Given the description of an element on the screen output the (x, y) to click on. 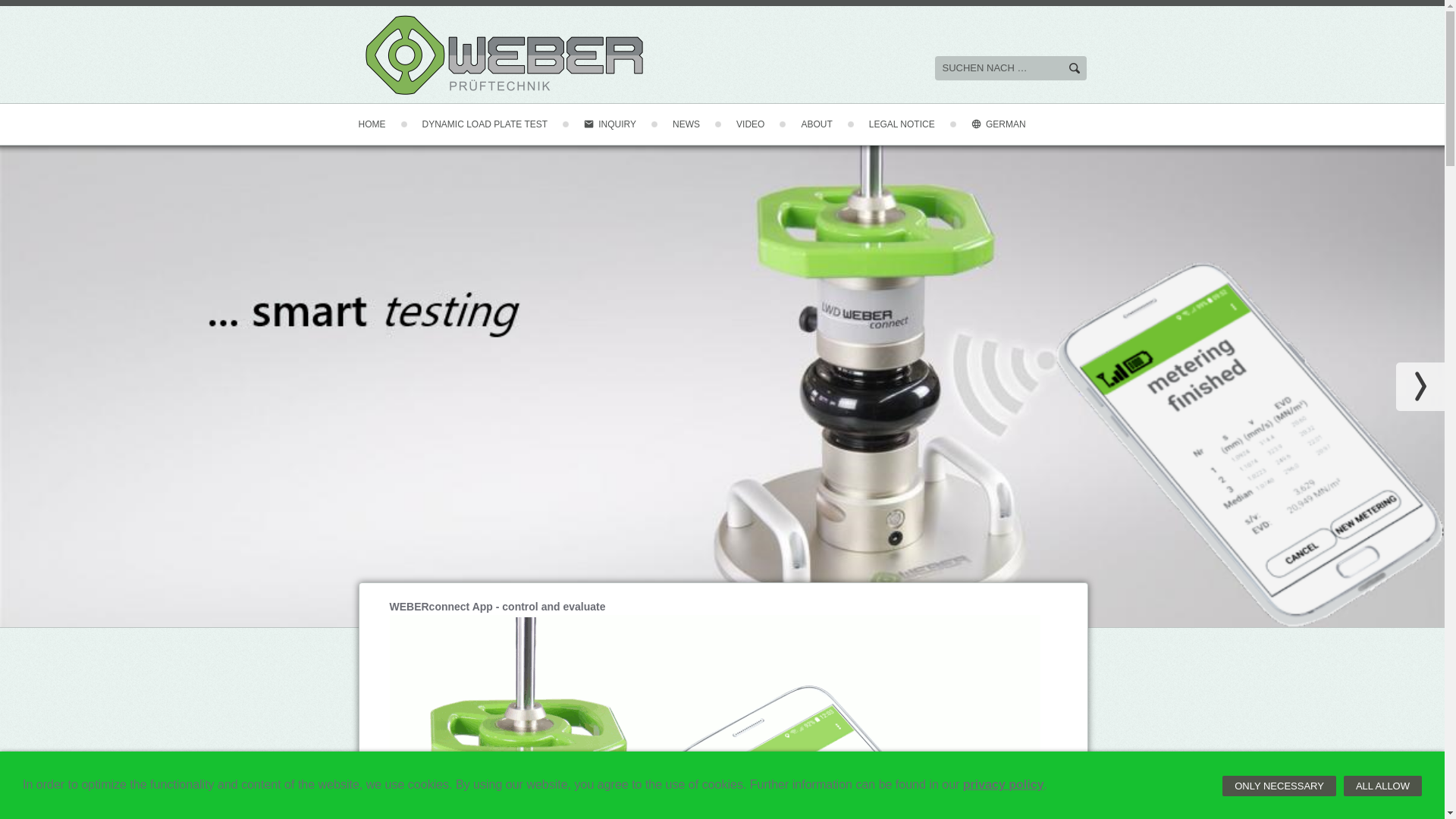
HOME (379, 124)
VIDEO (746, 124)
GERMAN (995, 124)
DYNAMIC LOAD PLATE TEST (481, 124)
ABOUT (812, 124)
LEGAL NOTICE (898, 124)
INQUIRY (606, 124)
NEWS (682, 124)
